Given the description of an element on the screen output the (x, y) to click on. 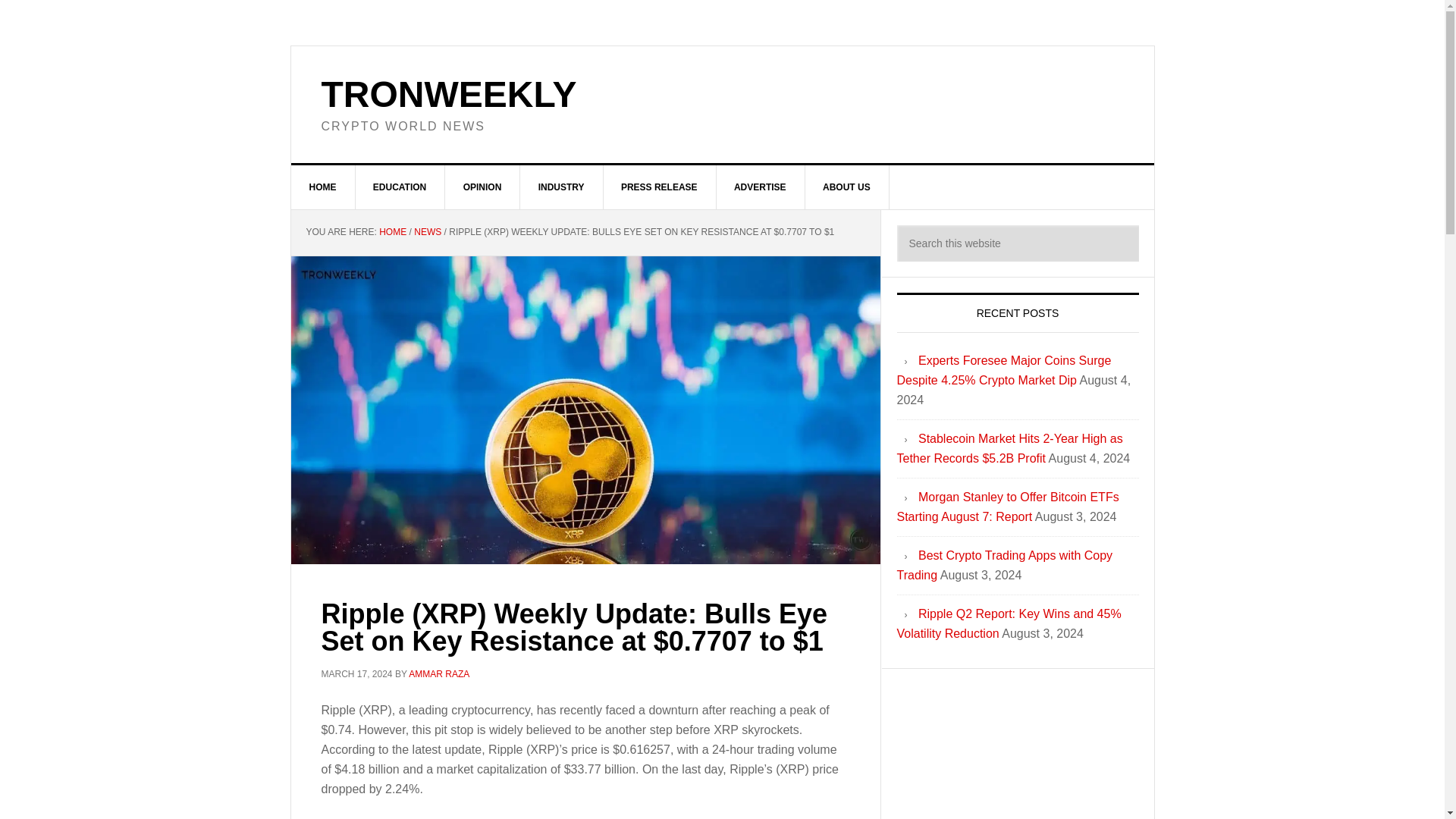
TRONWEEKLY (448, 94)
NEWS (427, 231)
ABOUT US (847, 187)
ADVERTISE (760, 187)
INDUSTRY (561, 187)
AMMAR RAZA (438, 674)
EDUCATION (400, 187)
HOME (392, 231)
PRESS RELEASE (659, 187)
